Given the description of an element on the screen output the (x, y) to click on. 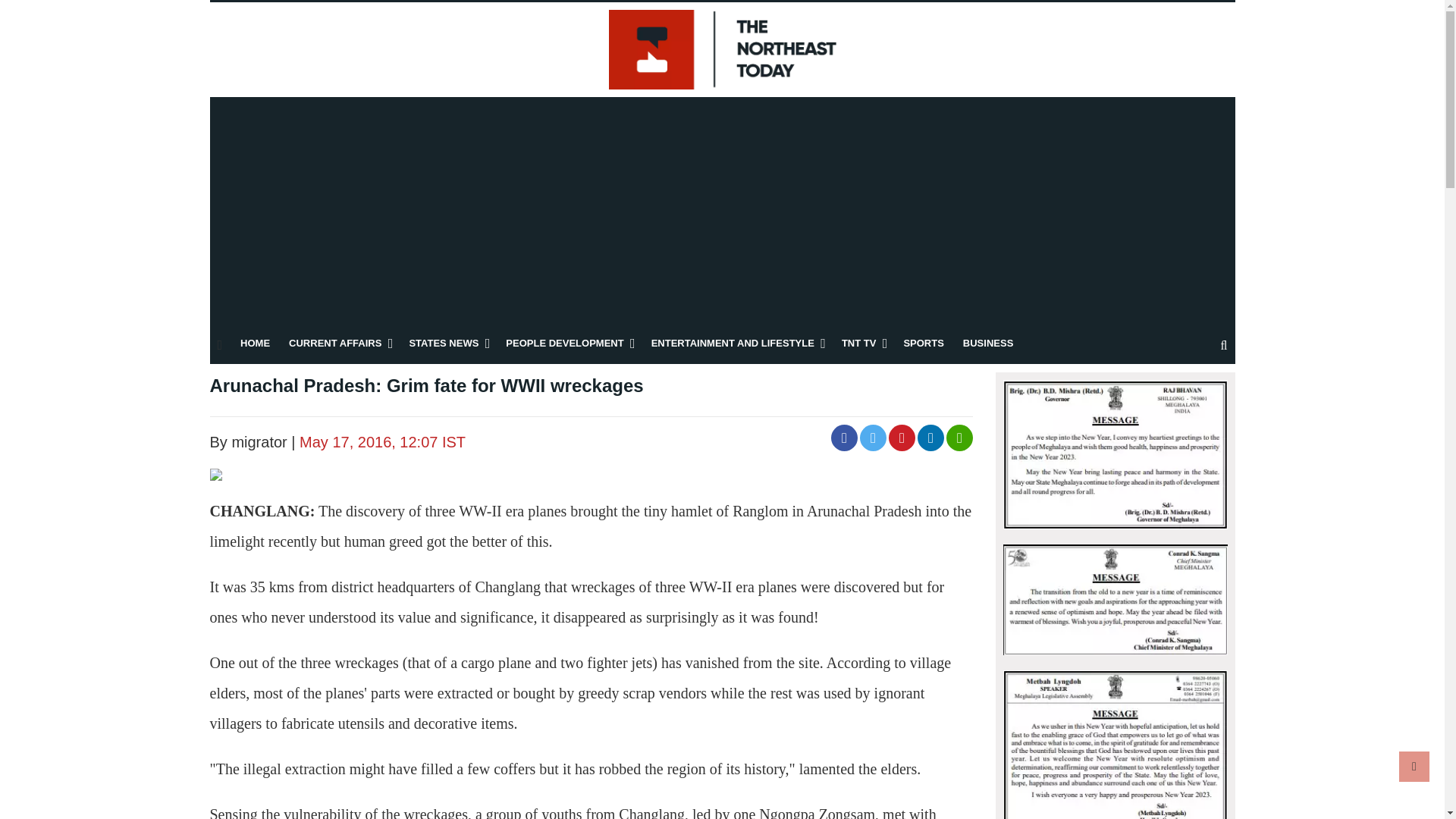
ENTERTAINMENT AND LIFESTYLE (731, 343)
STATES NEWS (444, 343)
TNT TV (858, 343)
SPORTS (922, 343)
HOME (254, 343)
PEOPLE DEVELOPMENT (564, 343)
CURRENT AFFAIRS (334, 343)
BUSINESS (987, 343)
